Given the description of an element on the screen output the (x, y) to click on. 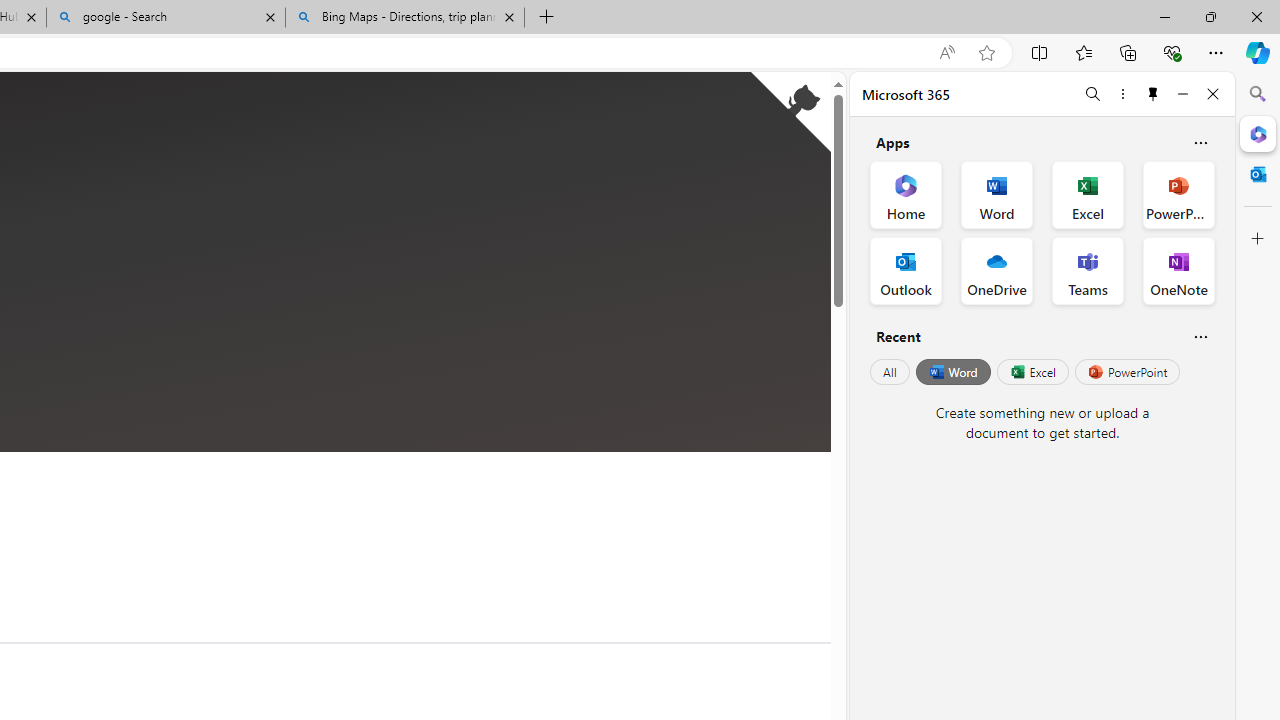
Word Office App (996, 194)
All (890, 372)
Word (952, 372)
